Given the description of an element on the screen output the (x, y) to click on. 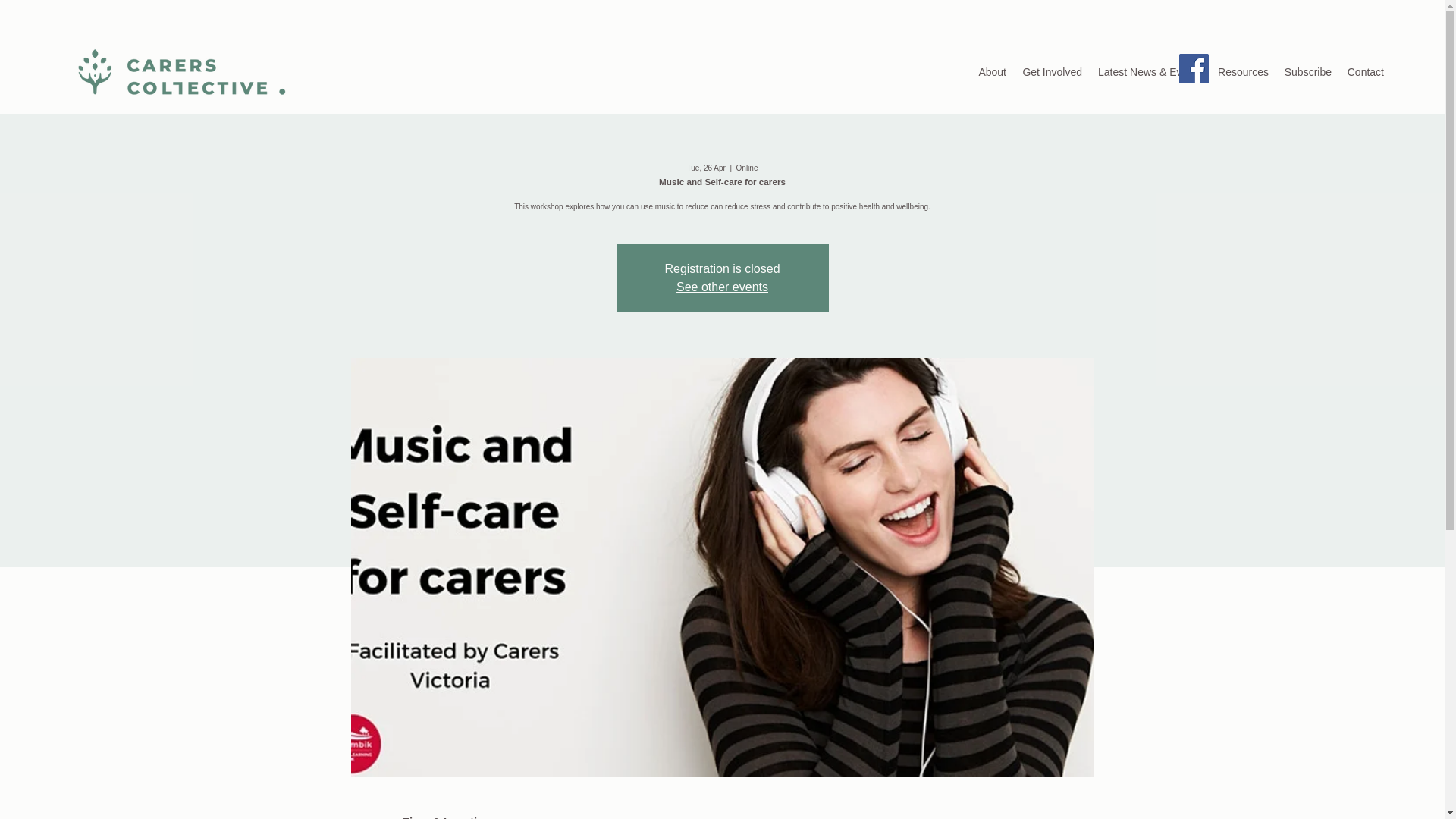
About (992, 71)
Resources (1242, 71)
Get Involved (1051, 71)
Contact (1365, 71)
Subscribe (1307, 71)
See other events (722, 286)
